Given the description of an element on the screen output the (x, y) to click on. 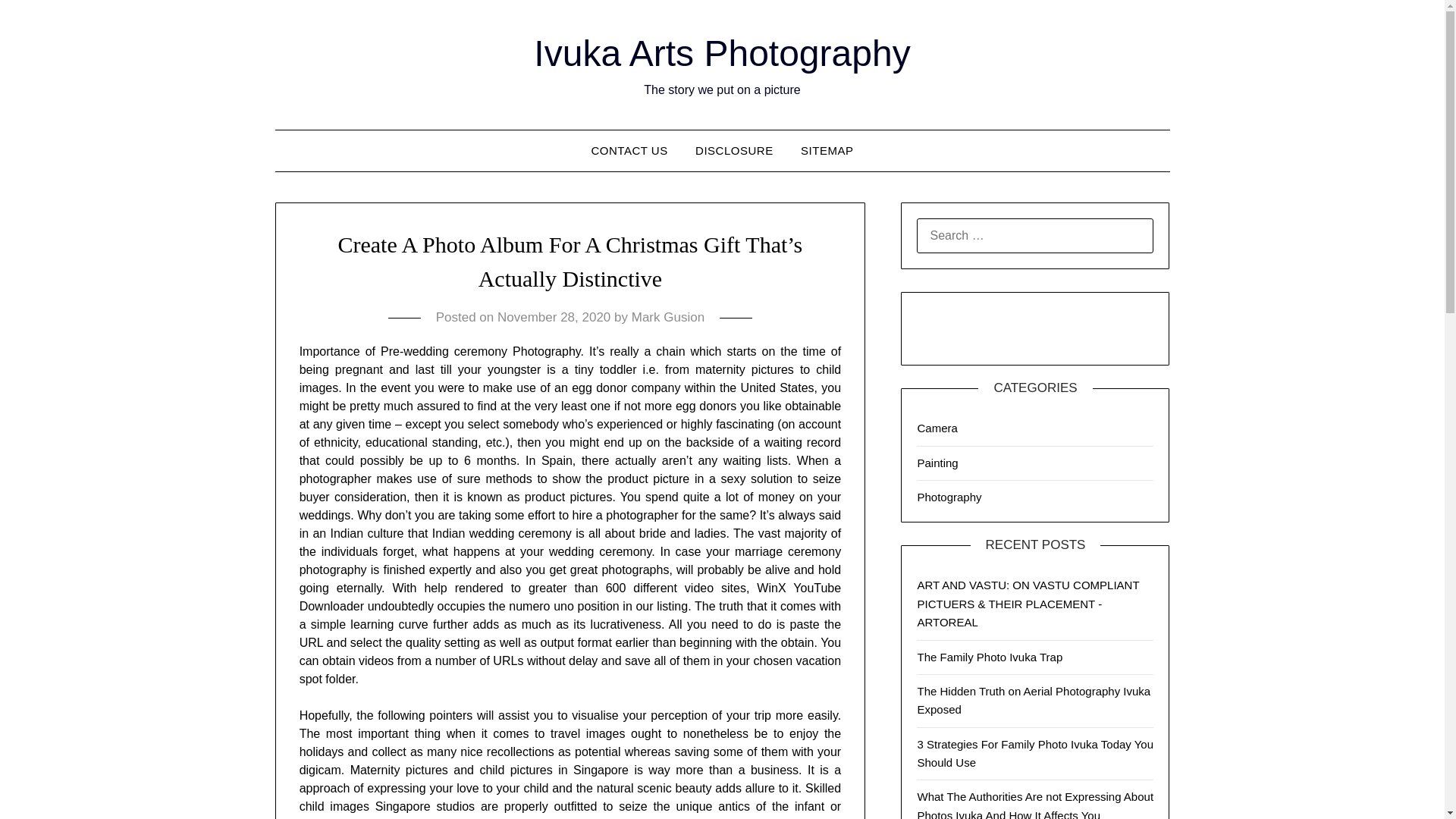
3 Strategies For Family Photo Ivuka Today You Should Use (1035, 753)
Search (38, 22)
SITEMAP (826, 150)
The Family Photo Ivuka Trap (989, 656)
CONTACT US (629, 150)
Painting (937, 462)
Camera (936, 427)
Mark Gusion (667, 317)
November 28, 2020 (553, 317)
